Given the description of an element on the screen output the (x, y) to click on. 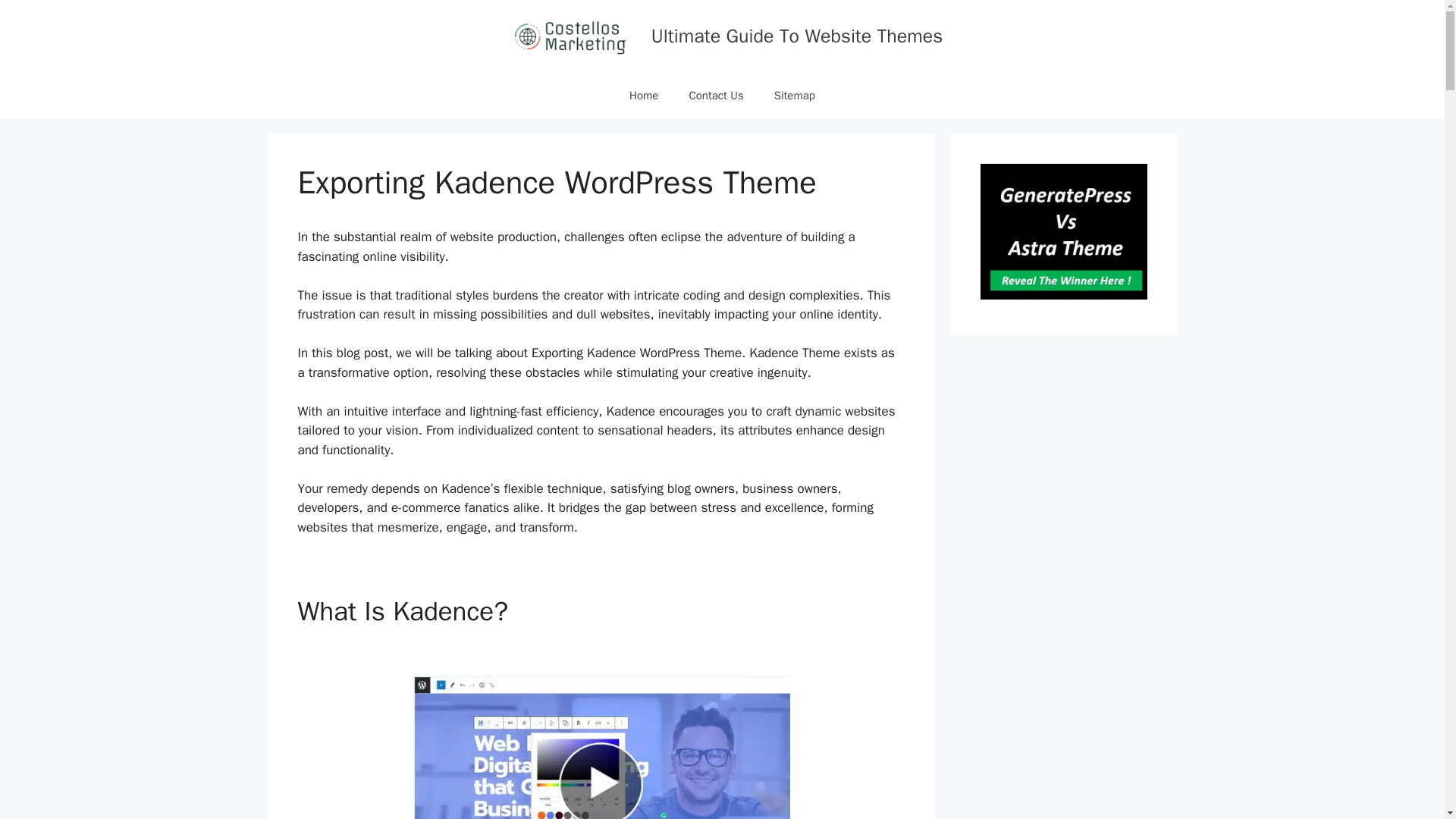
Sitemap (793, 94)
Ultimate Guide To Website Themes (796, 35)
Contact Us (715, 94)
Home (643, 94)
